Given the description of an element on the screen output the (x, y) to click on. 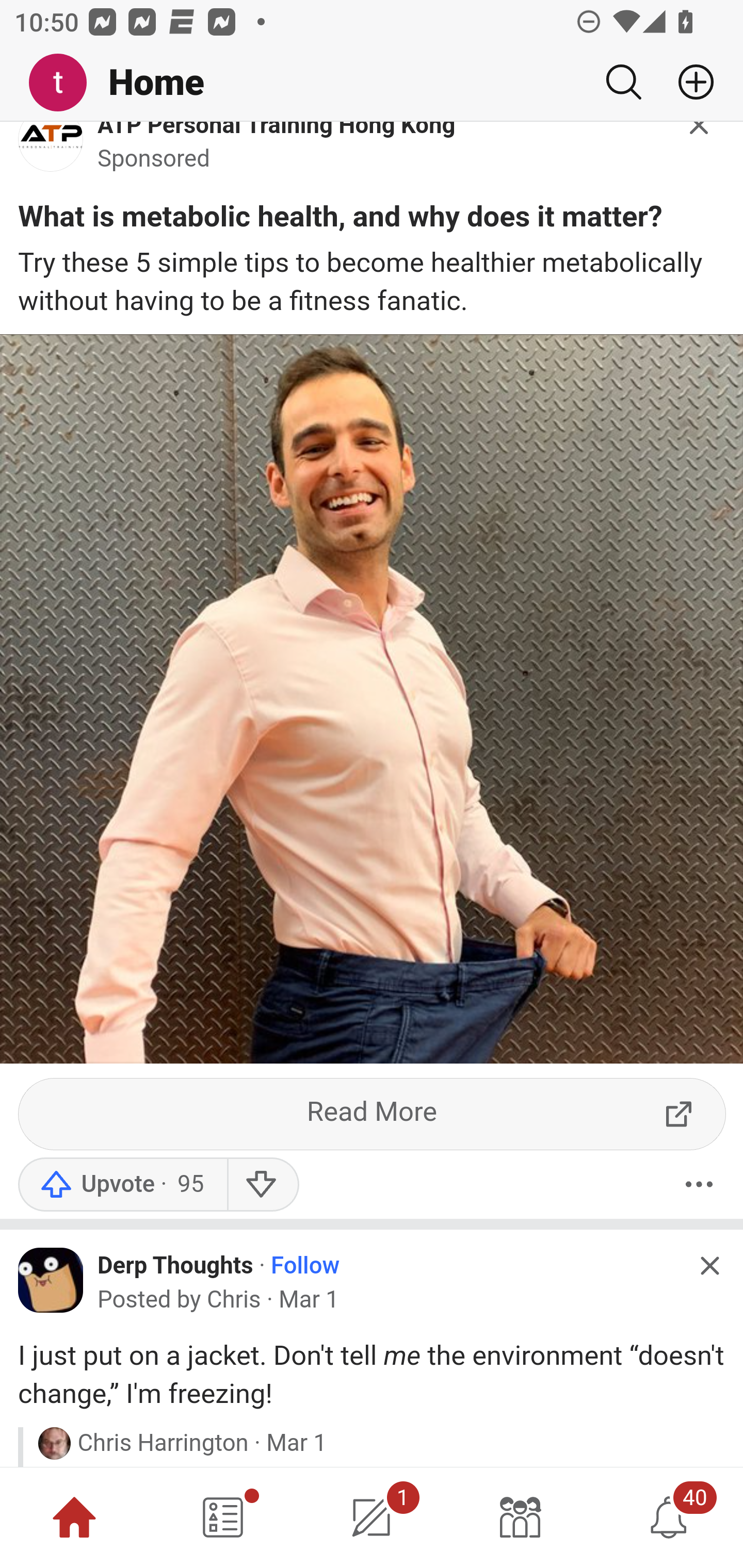
Me (64, 83)
Search (623, 82)
Add (688, 82)
main-qimg-1f396d5a5e054ddd9a425d683de3a2f9 (50, 152)
What is metabolic health, and why does it matter? (339, 221)
Read More ExternalLink (372, 1115)
Upvote (122, 1185)
Downvote (262, 1185)
More (699, 1185)
Hide (709, 1267)
Icon for Derp Thoughts (50, 1280)
Derp Thoughts (175, 1266)
Follow (306, 1266)
Profile photo for Chris Harrington (54, 1443)
1 (371, 1517)
40 (668, 1517)
